Given the description of an element on the screen output the (x, y) to click on. 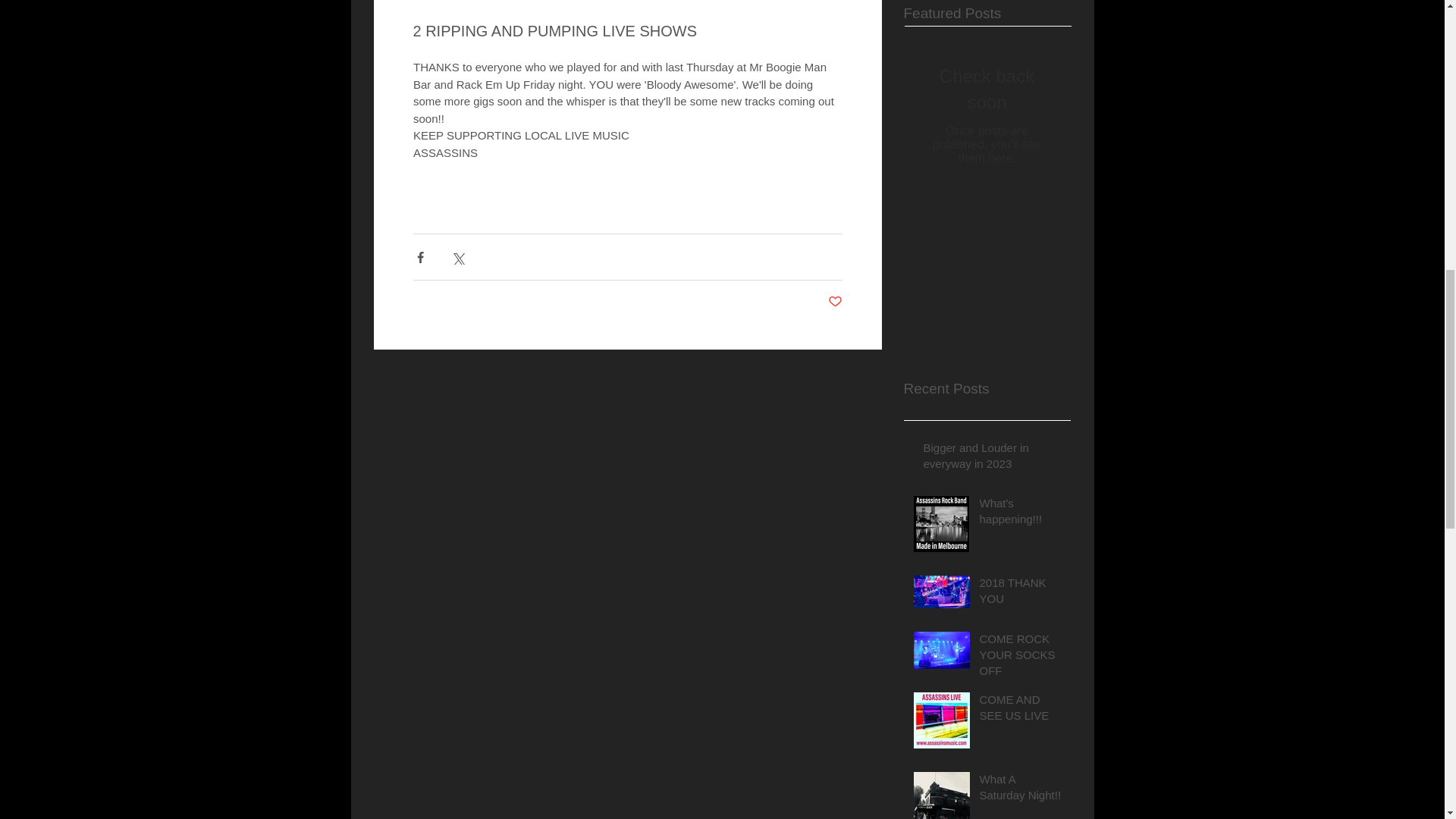
2018 THANK YOU (1020, 593)
What A Saturday Night!! (1020, 790)
Bigger and Louder in everyway in 2023 (992, 458)
COME AND SEE US LIVE (1020, 710)
Post not marked as liked (835, 302)
What's happening!!! (1020, 514)
COME ROCK YOUR SOCKS OFF (1020, 657)
